Given the description of an element on the screen output the (x, y) to click on. 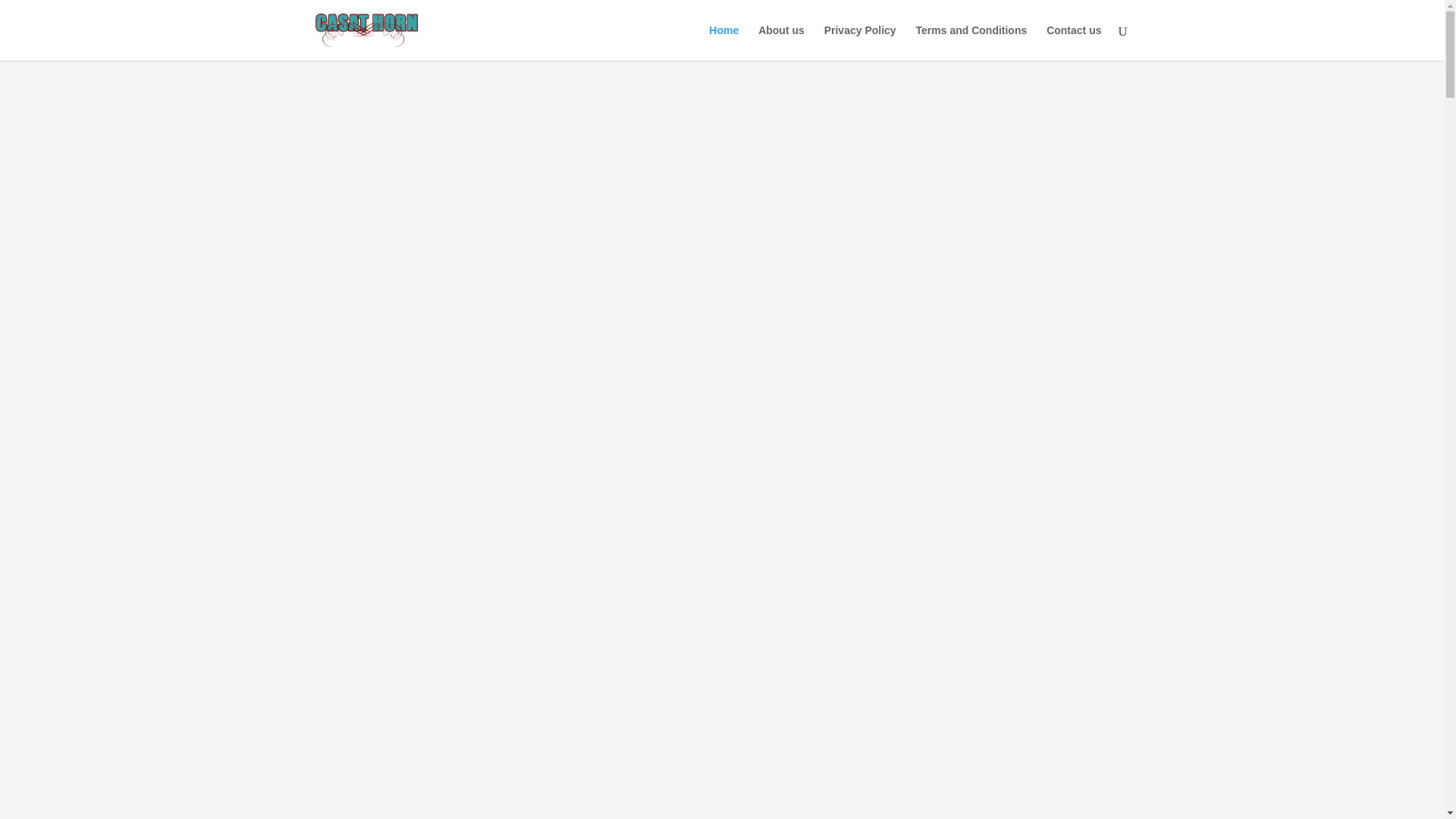
Privacy Policy (860, 42)
Contact us (1073, 42)
Terms and Conditions (971, 42)
About us (781, 42)
